Given the description of an element on the screen output the (x, y) to click on. 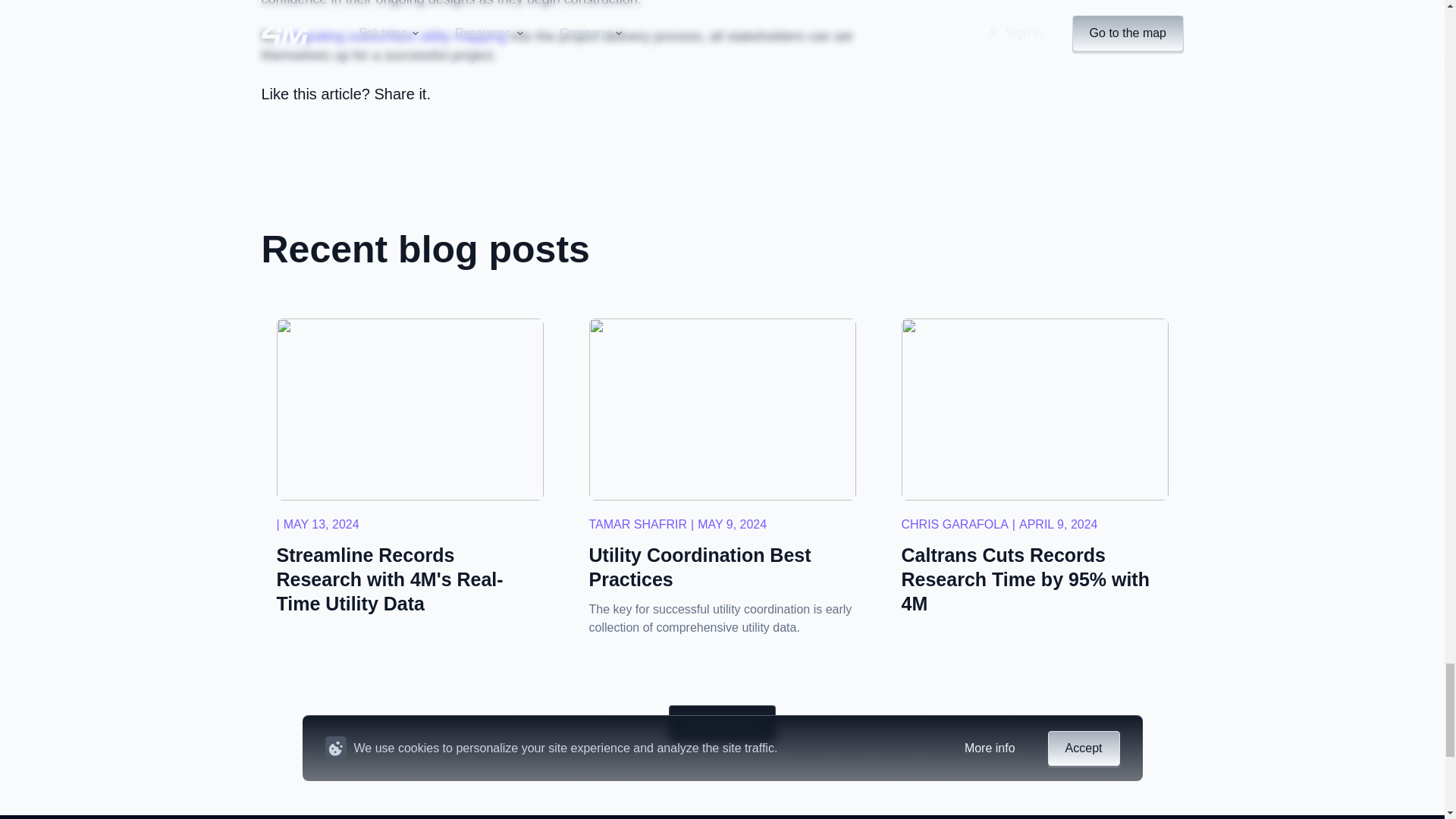
integrating subsurface utility mapping (393, 36)
